Given the description of an element on the screen output the (x, y) to click on. 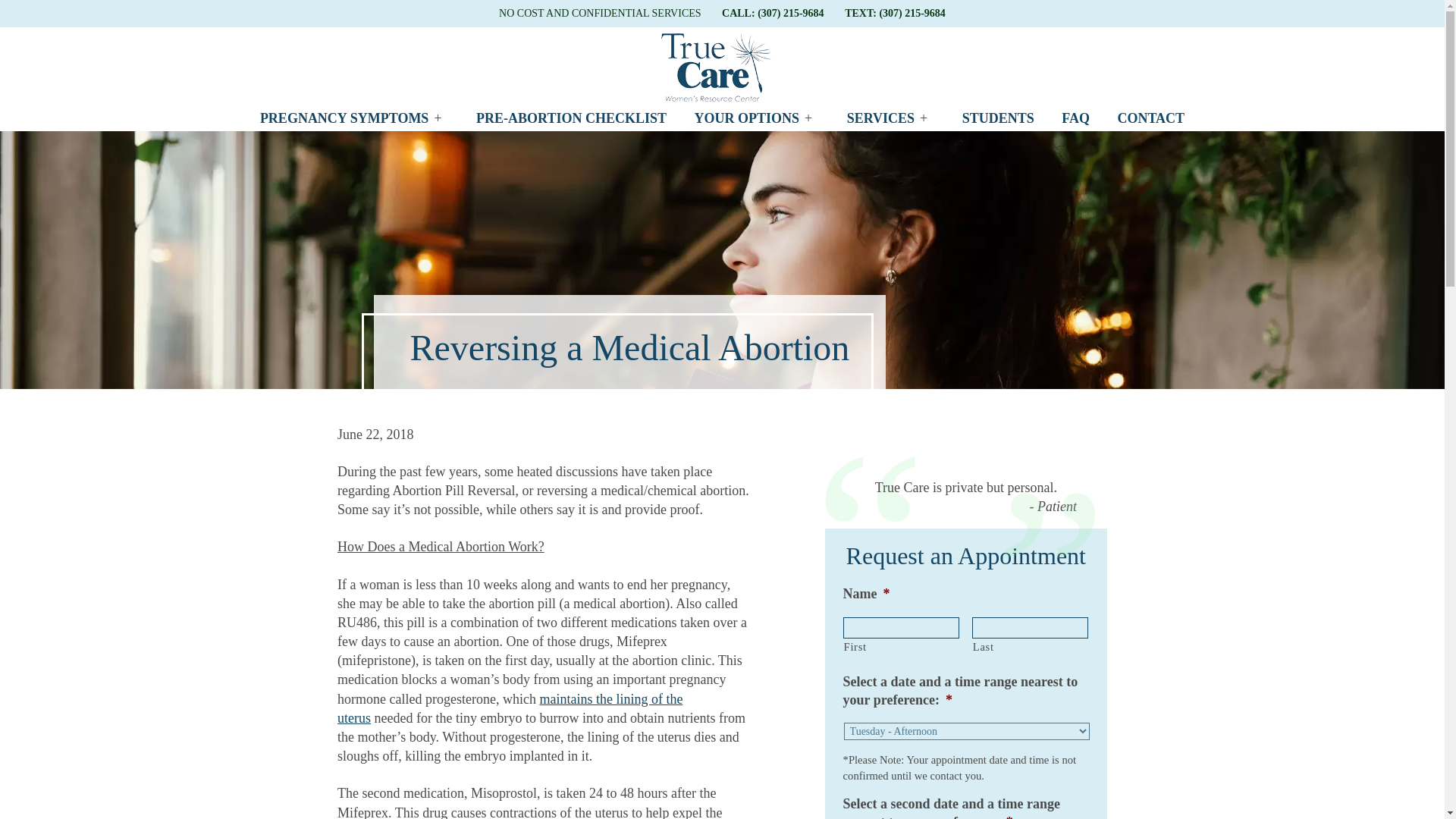
YOUR OPTIONS (752, 118)
CONTACT (1150, 118)
SERVICES (886, 118)
FAQ (1075, 118)
Services (886, 118)
Pre-Abortion Checklist (571, 118)
FAQ (1075, 118)
STUDENTS (998, 118)
PRE-ABORTION CHECKLIST (571, 118)
PREGNANCY SYMPTOMS (349, 118)
